Given the description of an element on the screen output the (x, y) to click on. 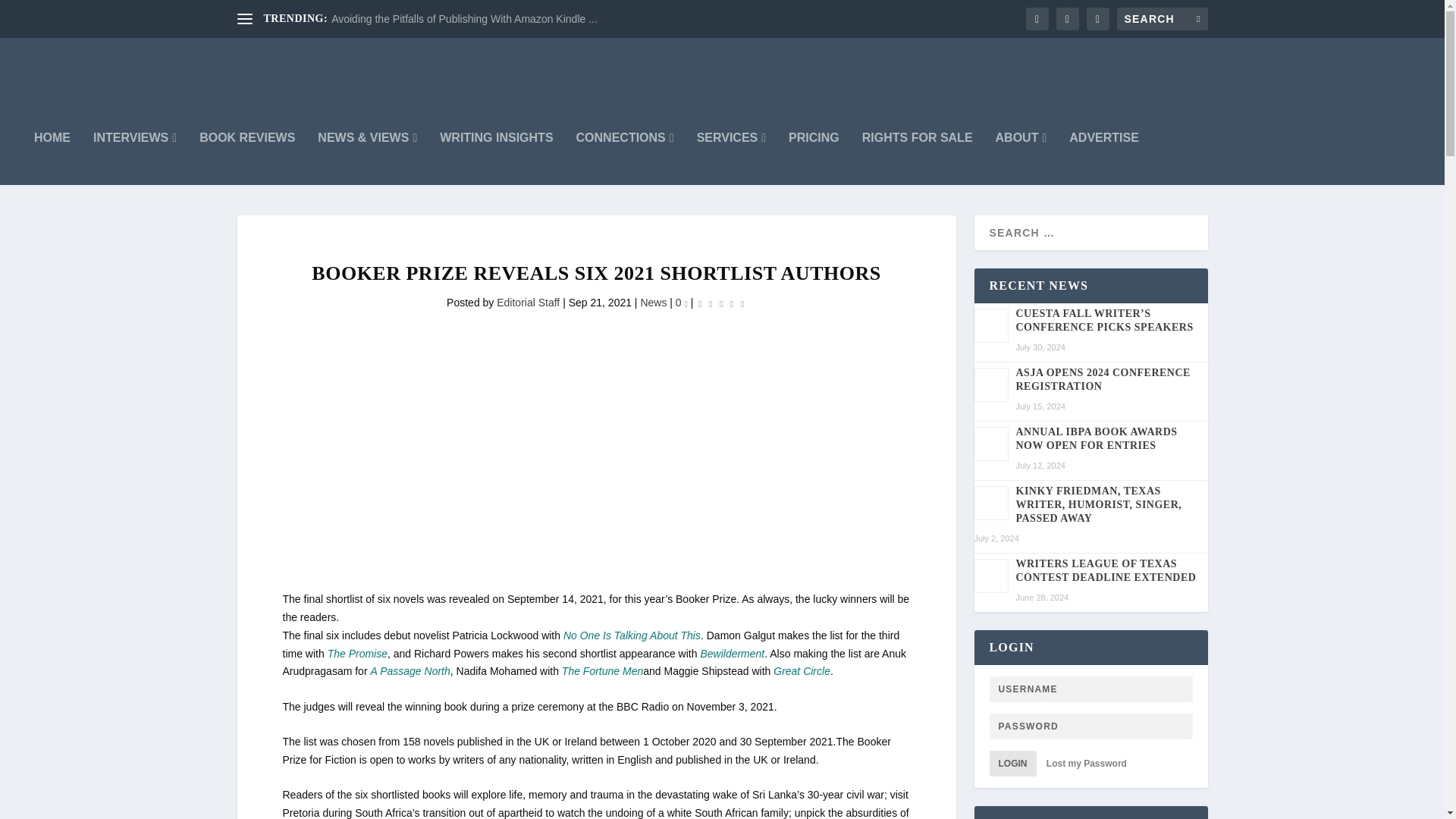
Rating: 0.00 (720, 303)
BOOK REVIEWS (247, 158)
SERVICES (731, 158)
RIGHTS FOR SALE (916, 158)
PRICING (814, 158)
CONNECTIONS (625, 158)
WRITING INSIGHTS (496, 158)
Avoiding the Pitfalls of Publishing With Amazon Kindle ... (463, 19)
Posts by Editorial Staff (527, 302)
Search for: (1161, 18)
ABOUT (1020, 158)
INTERVIEWS (134, 158)
